Given the description of an element on the screen output the (x, y) to click on. 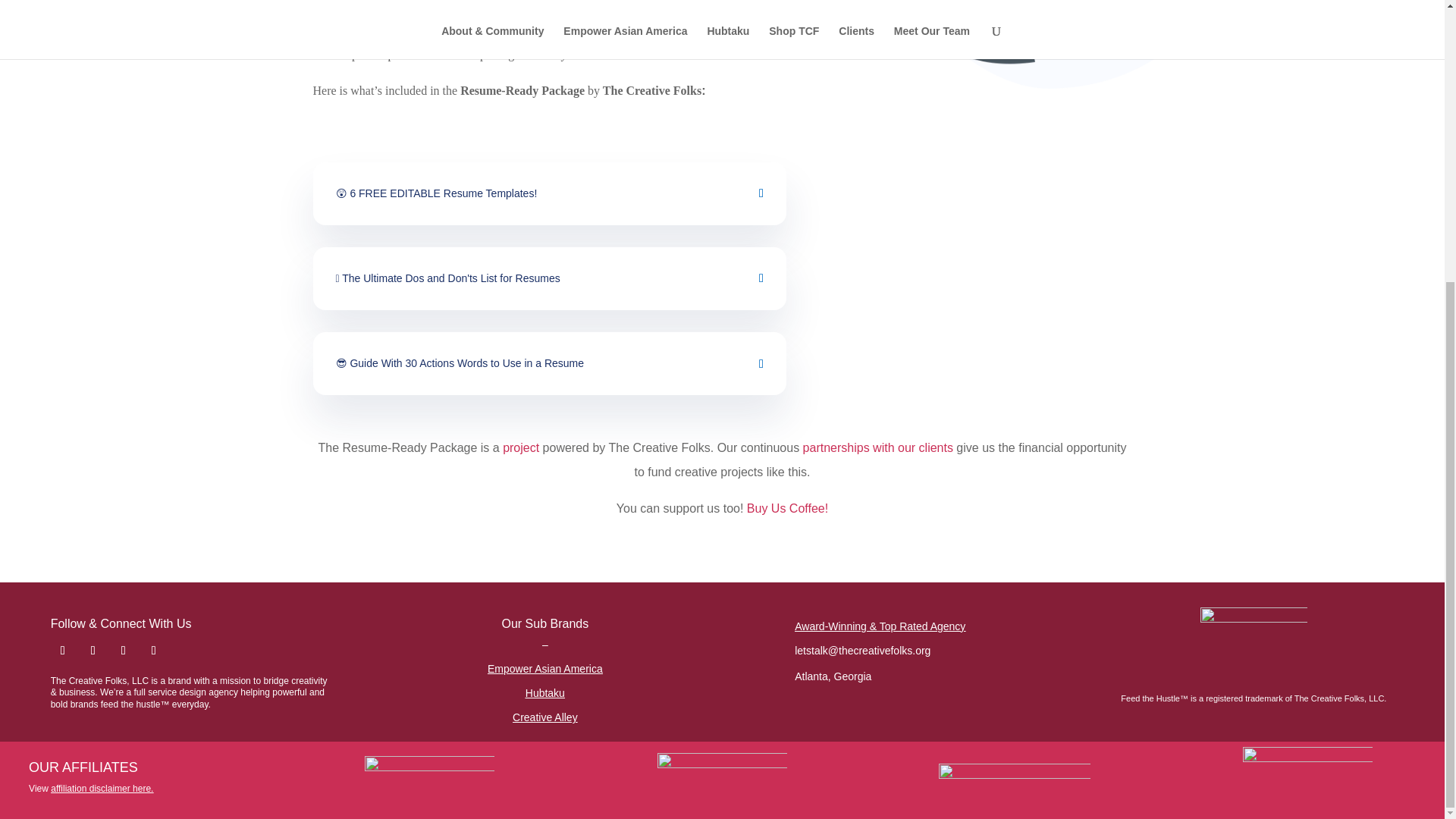
Follow on TikTok (92, 650)
Follow on Youtube (153, 650)
Buy Us Coffee! (787, 508)
Follow on LinkedIn (123, 650)
partnerships with our clients (878, 447)
Creative Alley (545, 717)
FTH Round Script (1253, 643)
siteground-logo-white-transparent-400x81 (1014, 778)
Follow on Instagram (62, 650)
interpreter-57 (1039, 44)
